Given the description of an element on the screen output the (x, y) to click on. 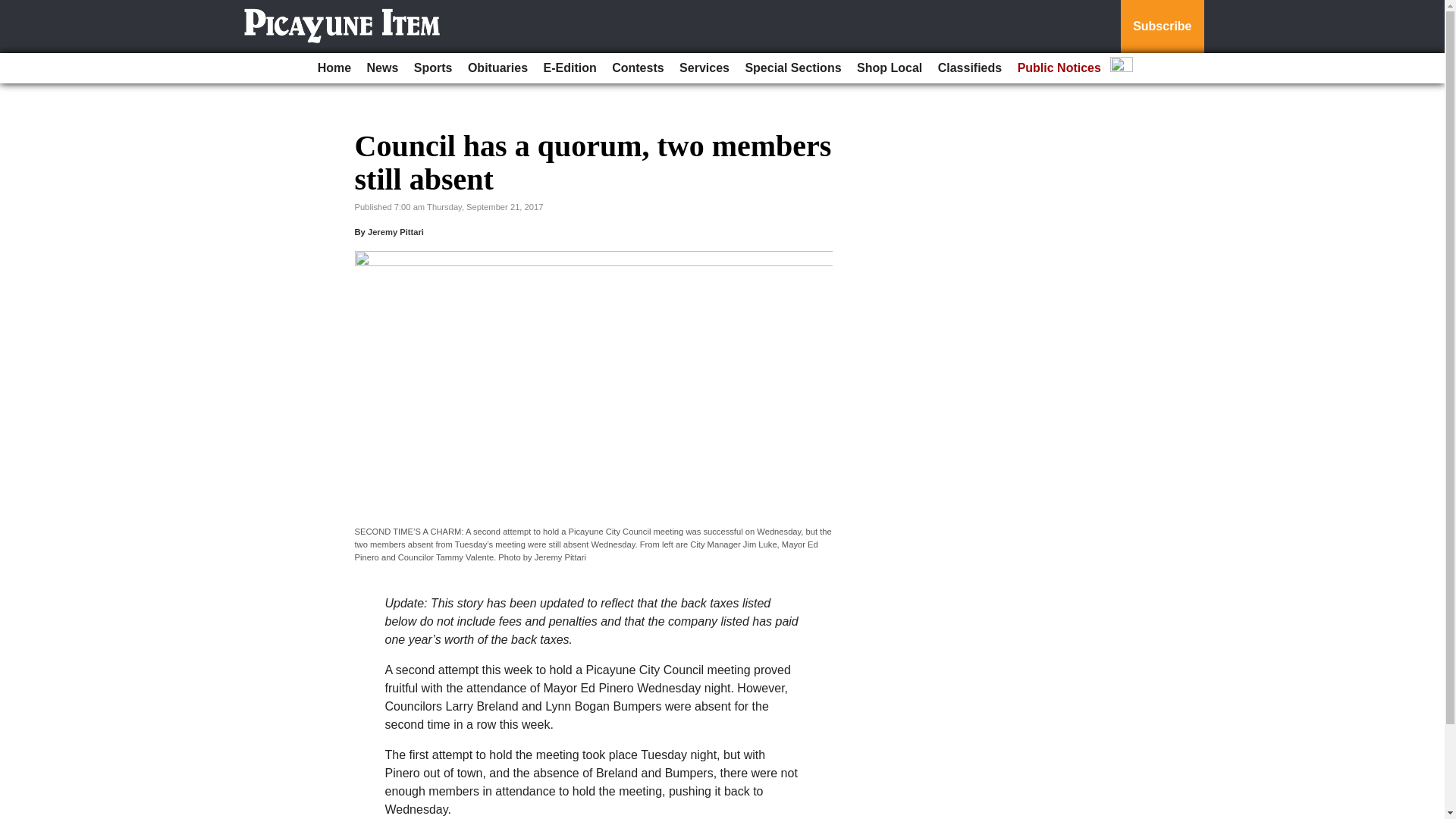
Obituaries (497, 68)
Services (703, 68)
News (382, 68)
Classifieds (969, 68)
Jeremy Pittari (395, 231)
Home (333, 68)
Contests (637, 68)
Subscribe (1162, 26)
Go (13, 9)
Shop Local (889, 68)
